Given the description of an element on the screen output the (x, y) to click on. 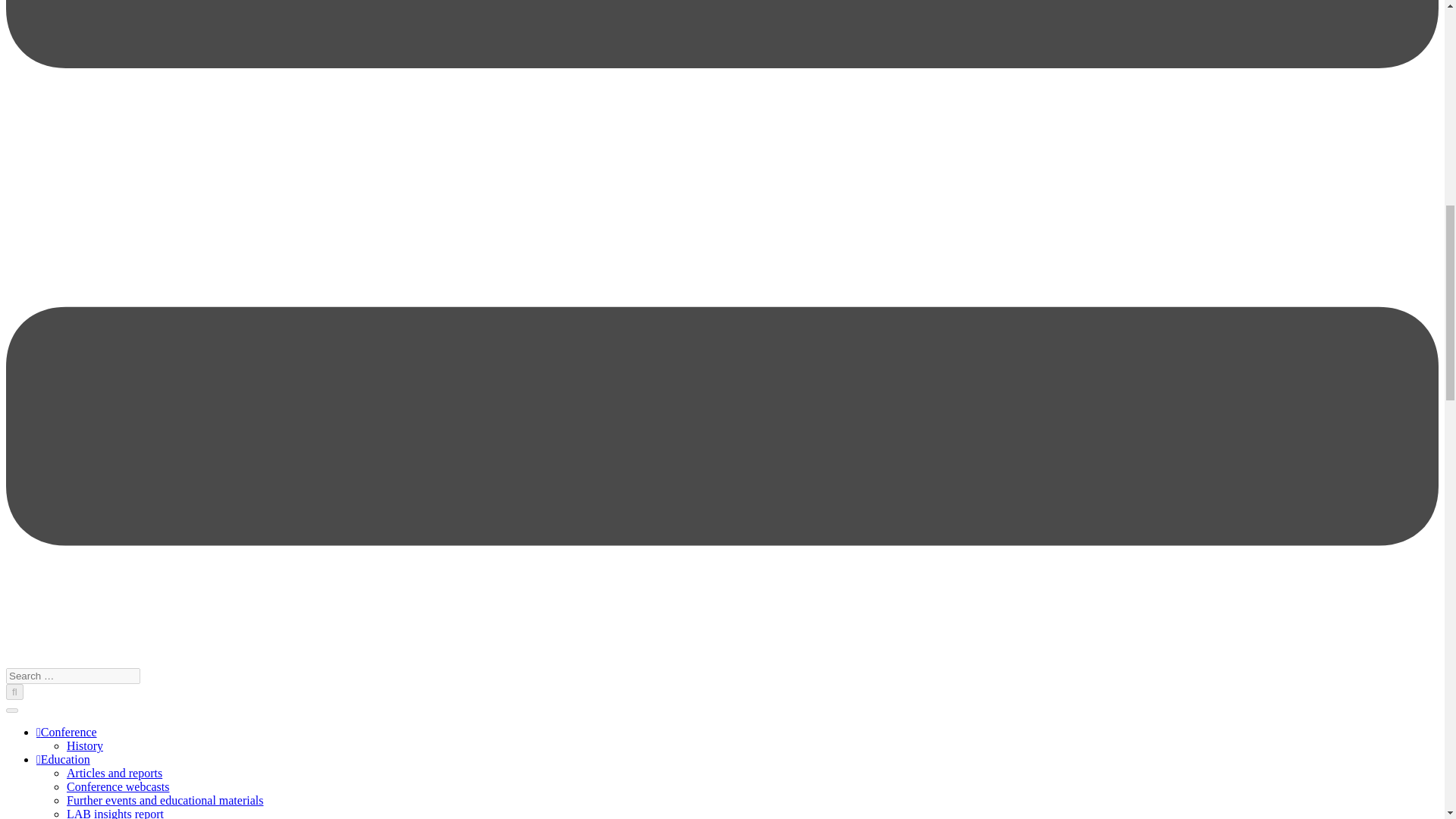
LAB insights report (114, 813)
Education (63, 758)
History (84, 745)
Search for: (72, 675)
Articles and reports (113, 772)
Conference (66, 731)
Further events and educational materials (164, 799)
Conference webcasts (118, 786)
